Given the description of an element on the screen output the (x, y) to click on. 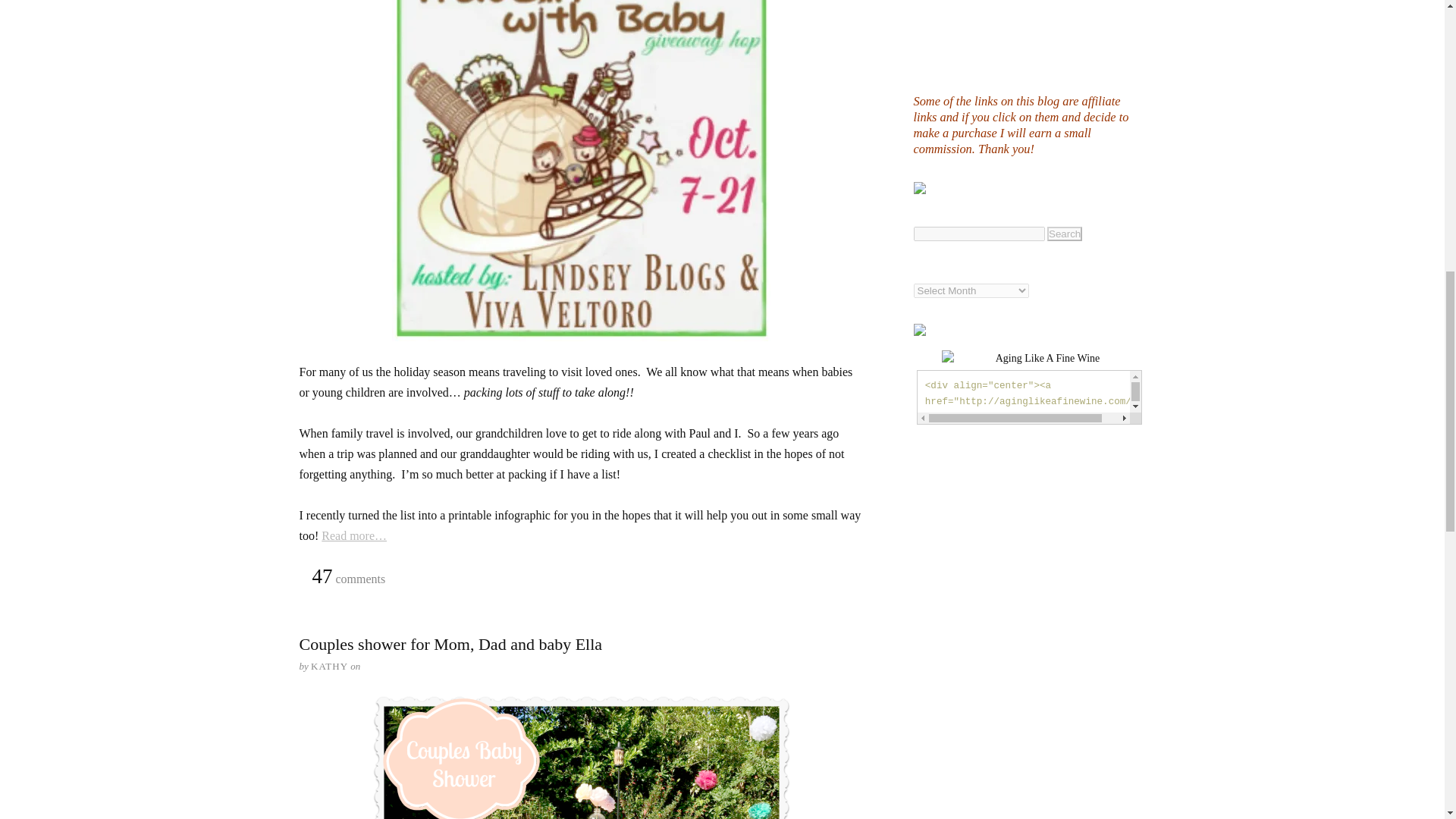
Couples shower for Mom, Dad and baby Ella (450, 643)
Search (1063, 233)
Search (1063, 233)
47 comments (348, 577)
